Given the description of an element on the screen output the (x, y) to click on. 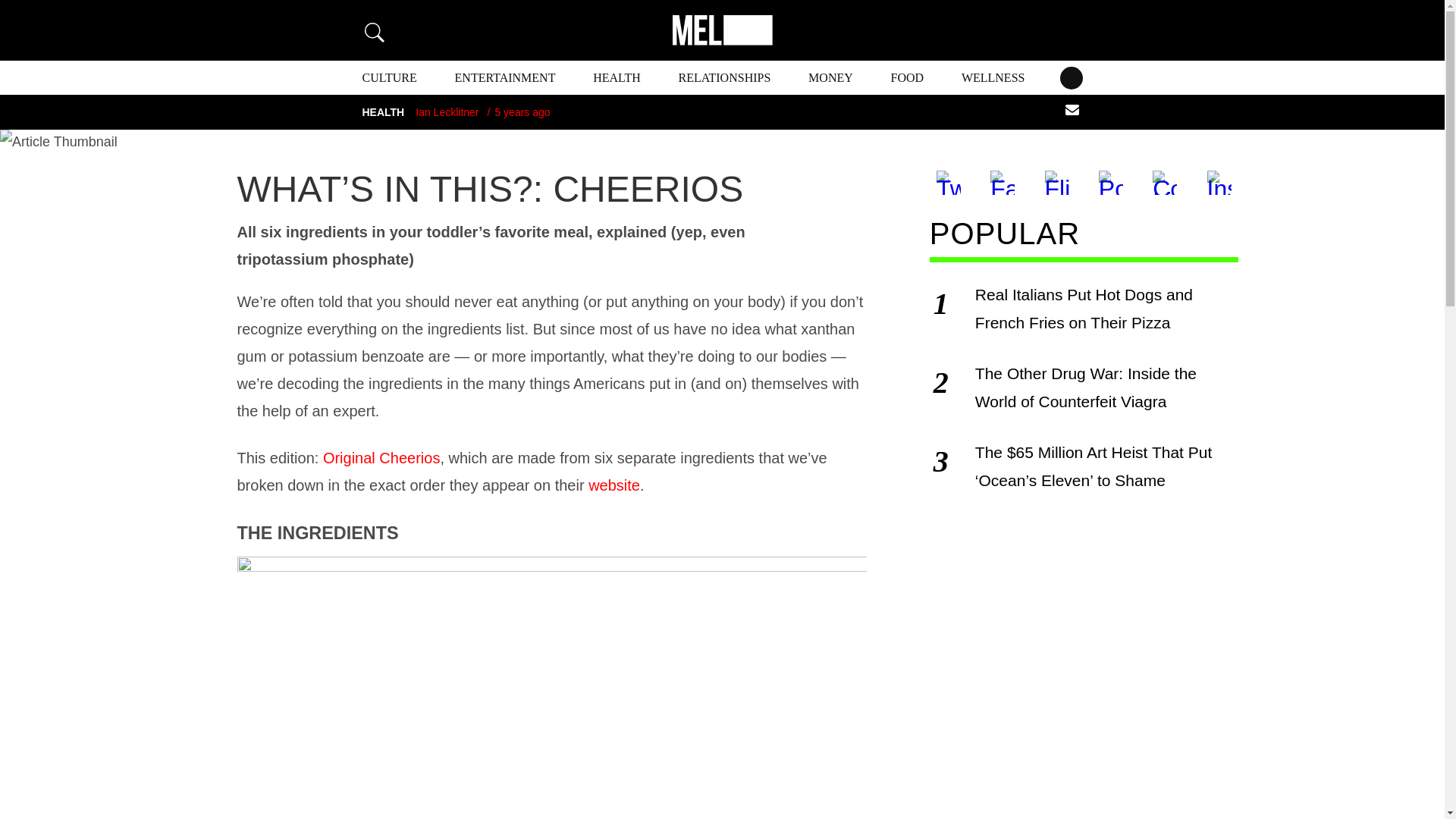
Copy Link (1164, 182)
Facebook (1002, 182)
MONEY (830, 77)
Flipboard (1056, 182)
MEL Magazine (721, 30)
Instagram (1219, 182)
HEALTH (616, 77)
Pocket (1110, 182)
ENTERTAINMENT (505, 77)
FOOD (907, 77)
